Given the description of an element on the screen output the (x, y) to click on. 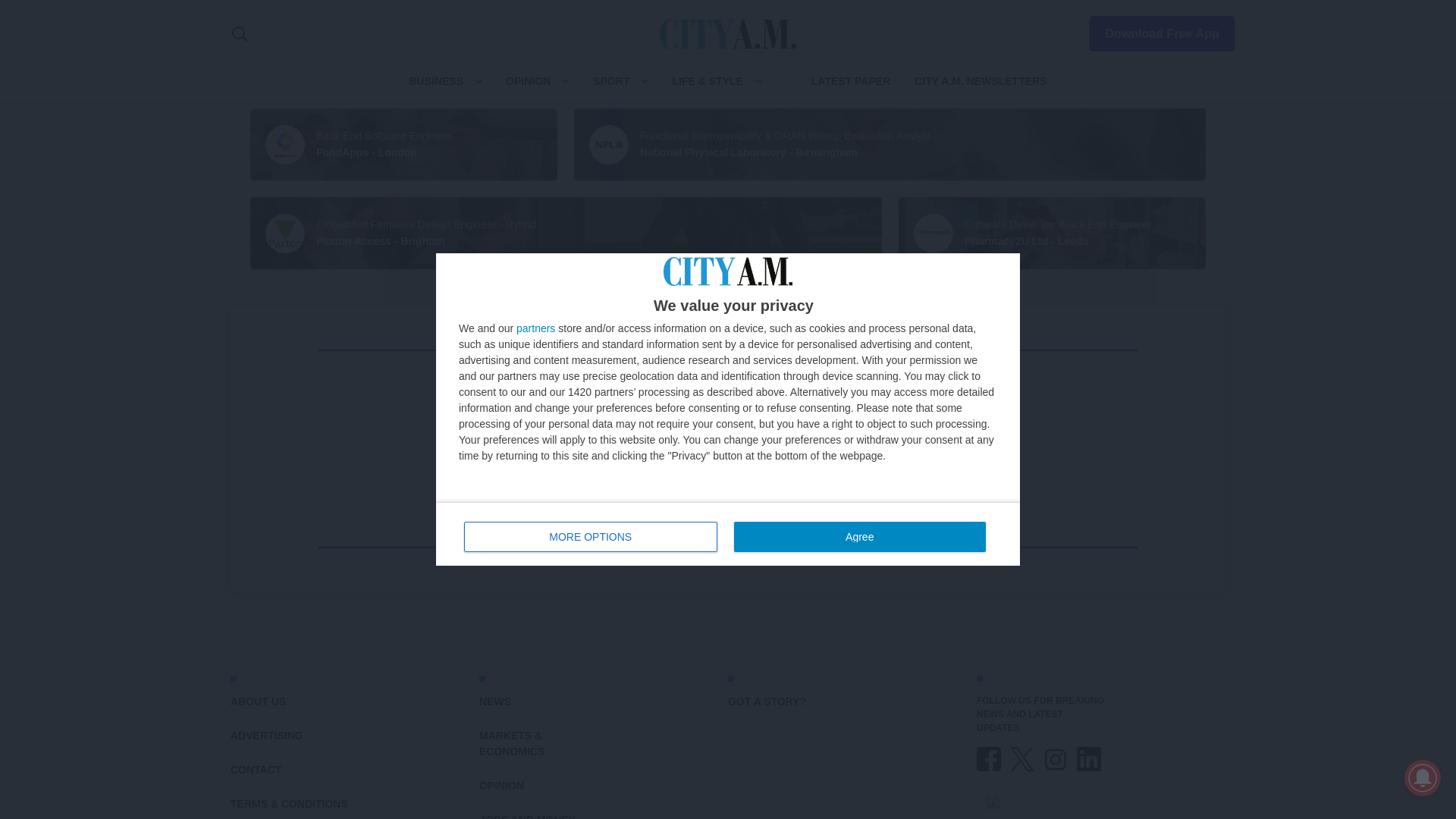
FACEBOOK (988, 758)
INSTAGRAM (1055, 758)
X (1021, 758)
LINKEDIN (1088, 758)
